Given the description of an element on the screen output the (x, y) to click on. 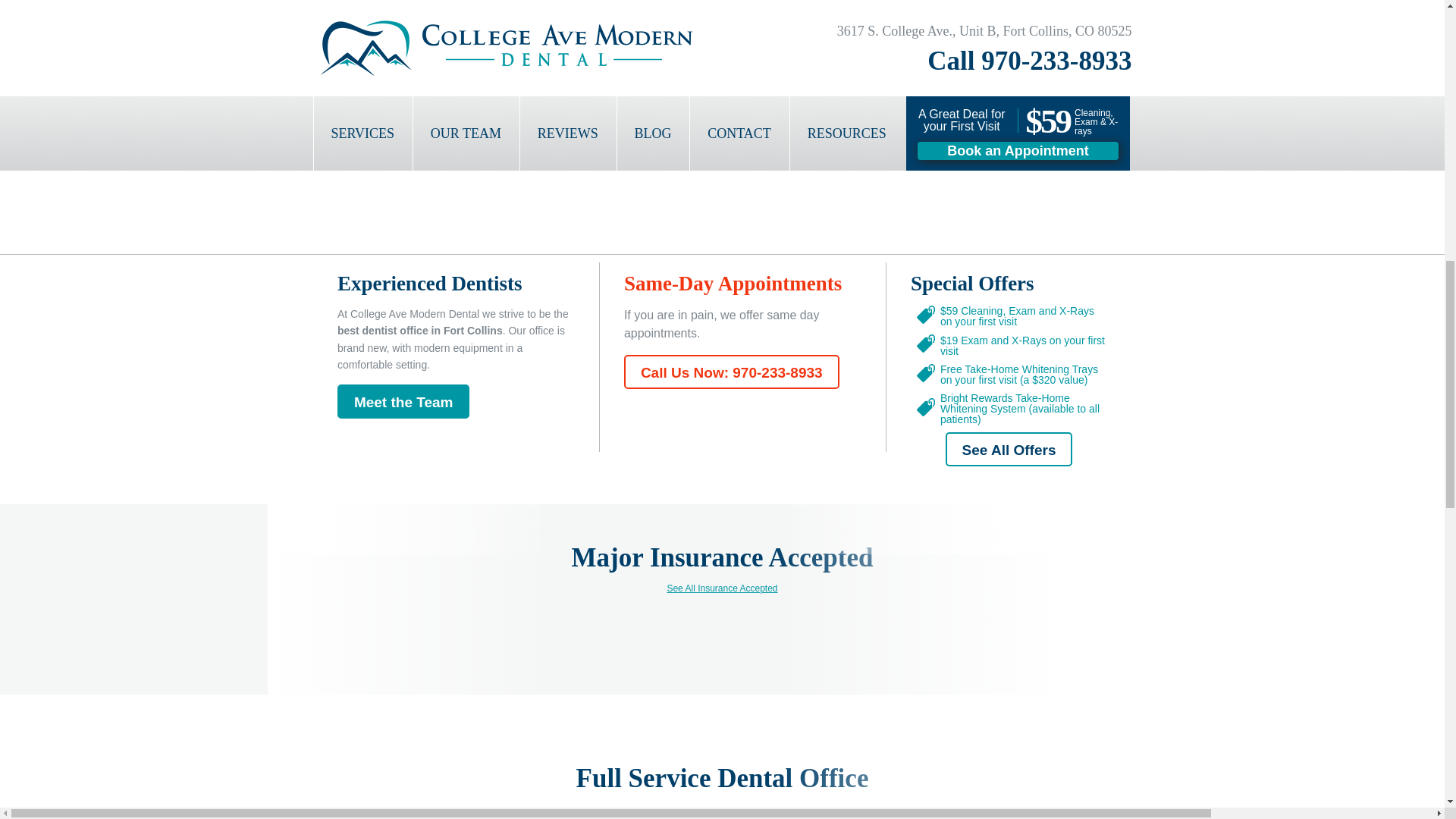
Meet the Team (403, 401)
